Given the description of an element on the screen output the (x, y) to click on. 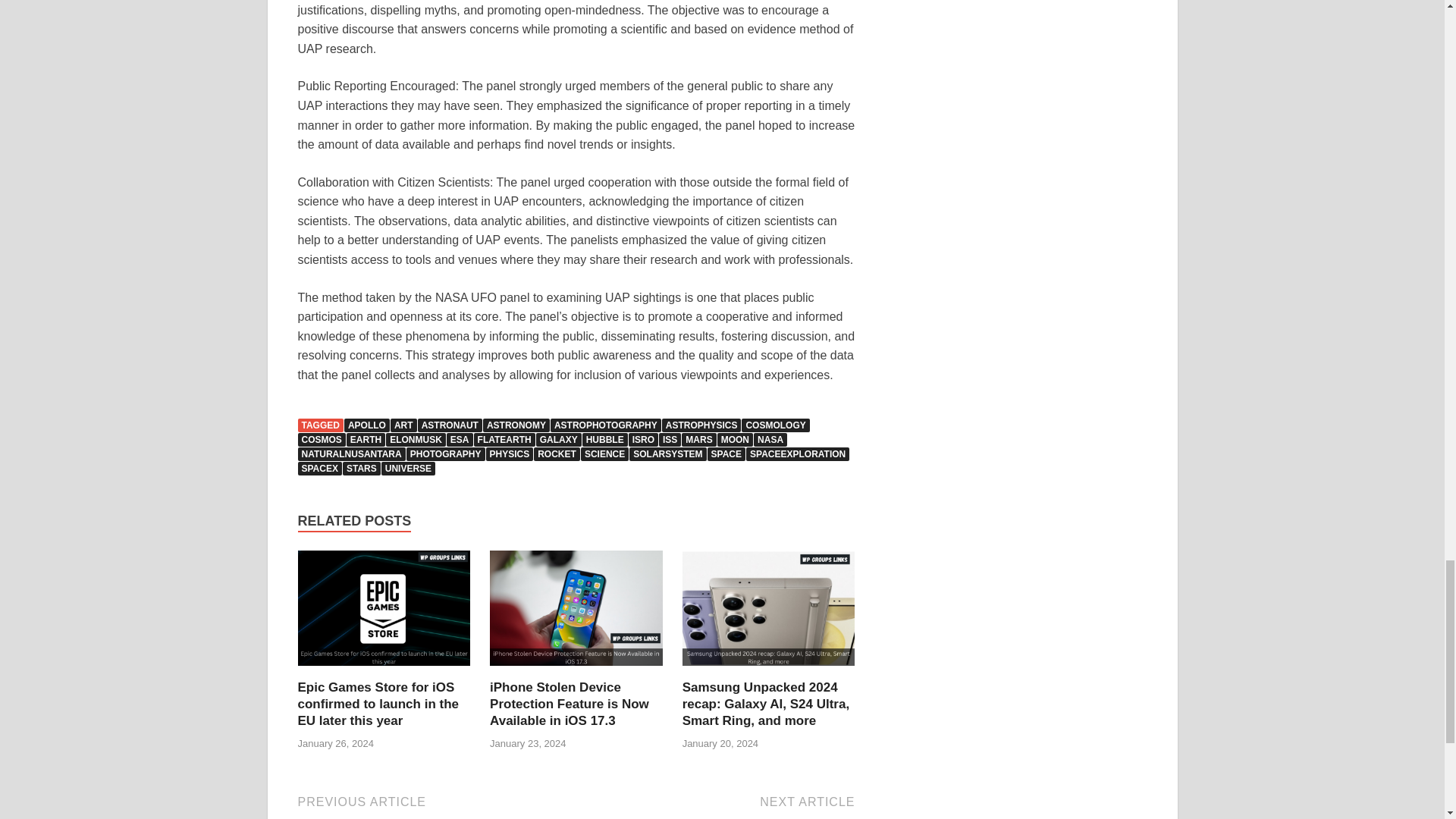
PHYSICS (510, 454)
COSMOS (321, 439)
ELONMUSK (415, 439)
ASTRONAUT (449, 425)
ROCKET (556, 454)
GALAXY (557, 439)
ISRO (643, 439)
ISS (670, 439)
MARS (698, 439)
ASTROPHOTOGRAPHY (605, 425)
